Given the description of an element on the screen output the (x, y) to click on. 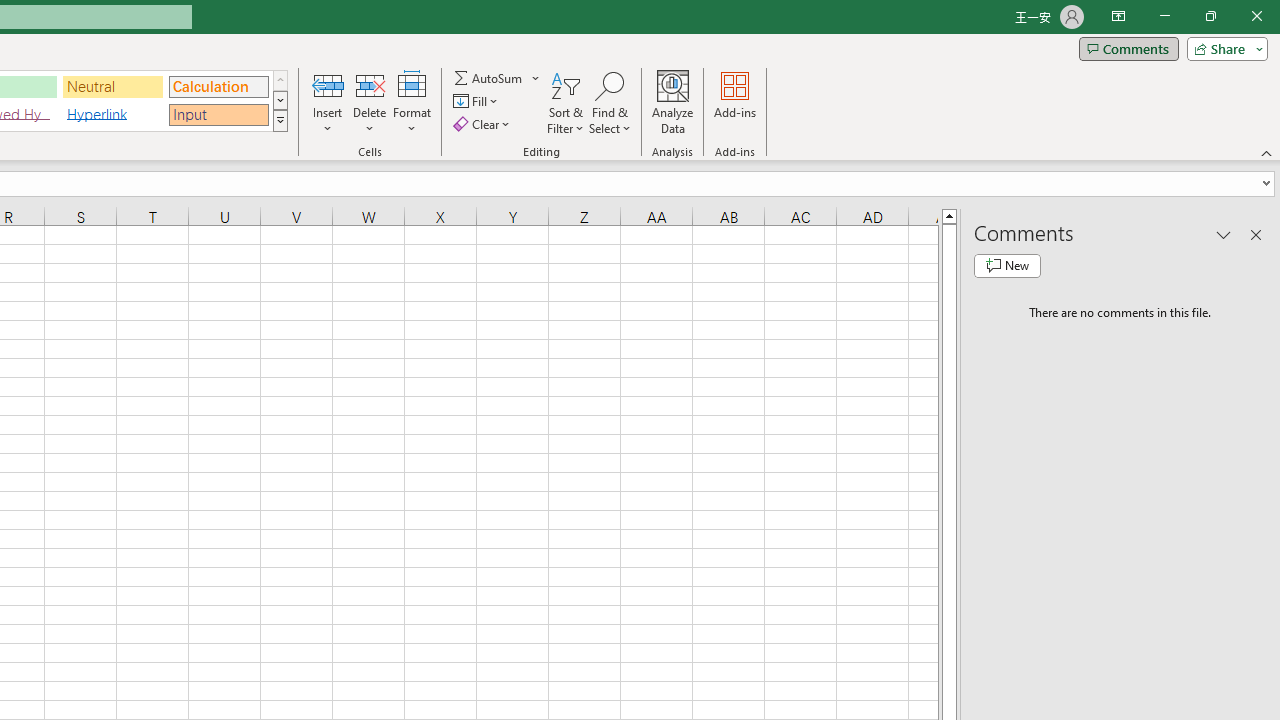
Cell Styles (280, 120)
Task Pane Options (1224, 234)
Format (411, 102)
Row up (280, 79)
Collapse the Ribbon (1267, 152)
Find & Select (610, 102)
AutoSum (497, 78)
Analyze Data (673, 102)
Fill (477, 101)
Hyperlink (113, 114)
Close pane (1256, 234)
